Given the description of an element on the screen output the (x, y) to click on. 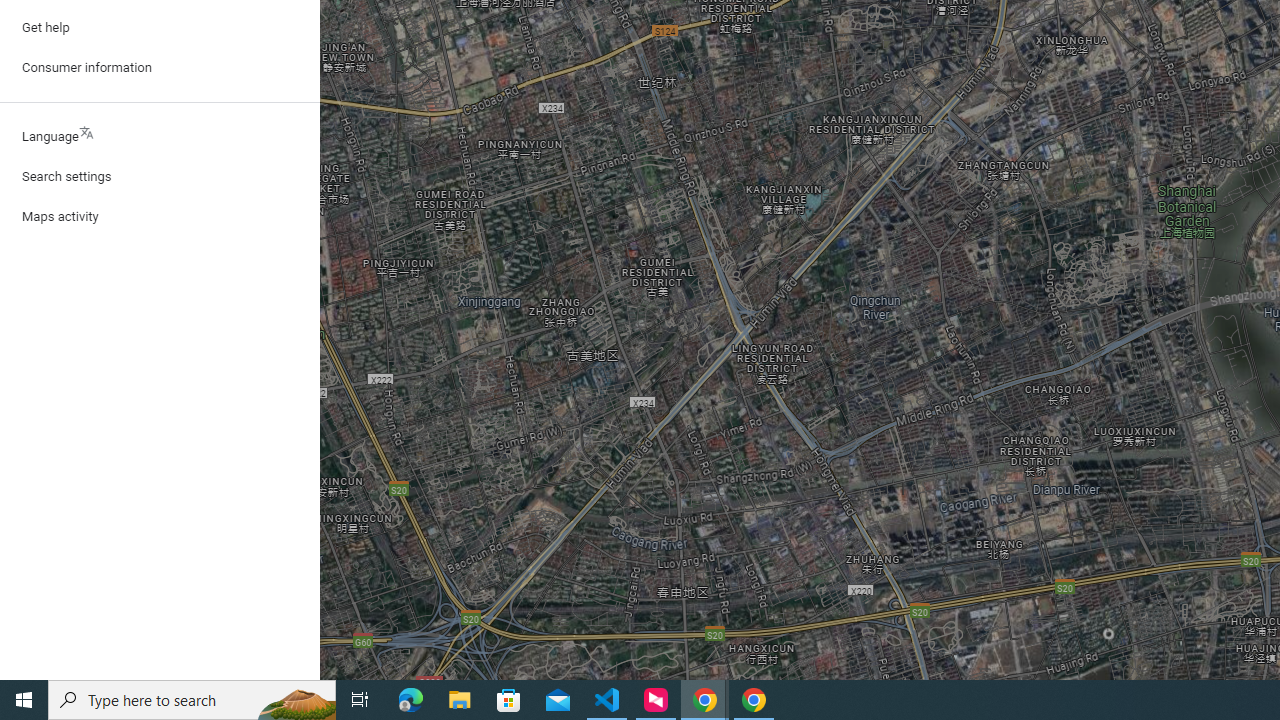
Maps activity (159, 216)
Language (159, 137)
Search settings (159, 176)
Layers (130, 620)
Consumer information (159, 67)
Get help (159, 27)
